Given the description of an element on the screen output the (x, y) to click on. 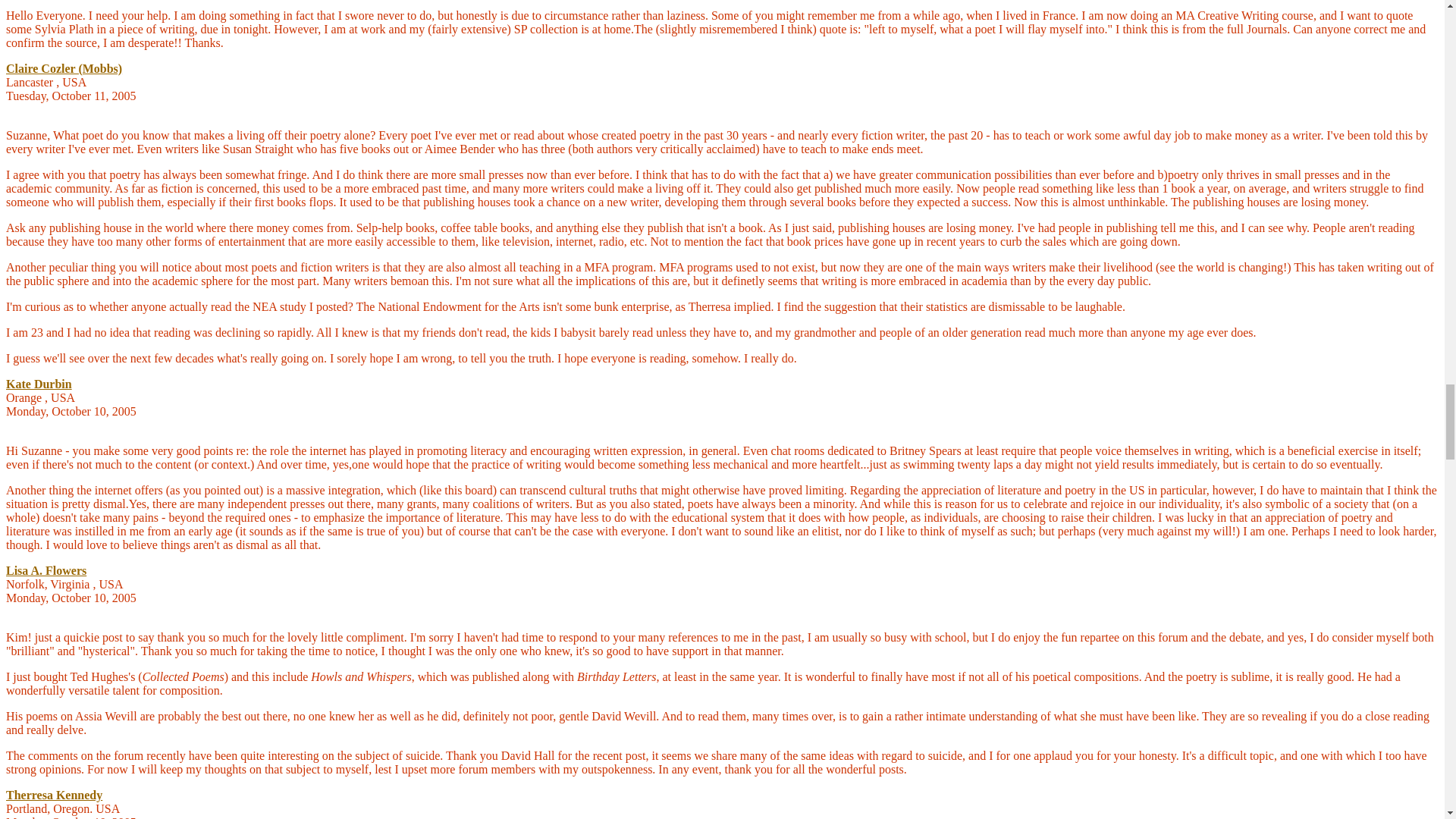
Lisa A. Flowers (45, 570)
Kate Durbin (38, 383)
Therresa Kennedy (53, 794)
